Given the description of an element on the screen output the (x, y) to click on. 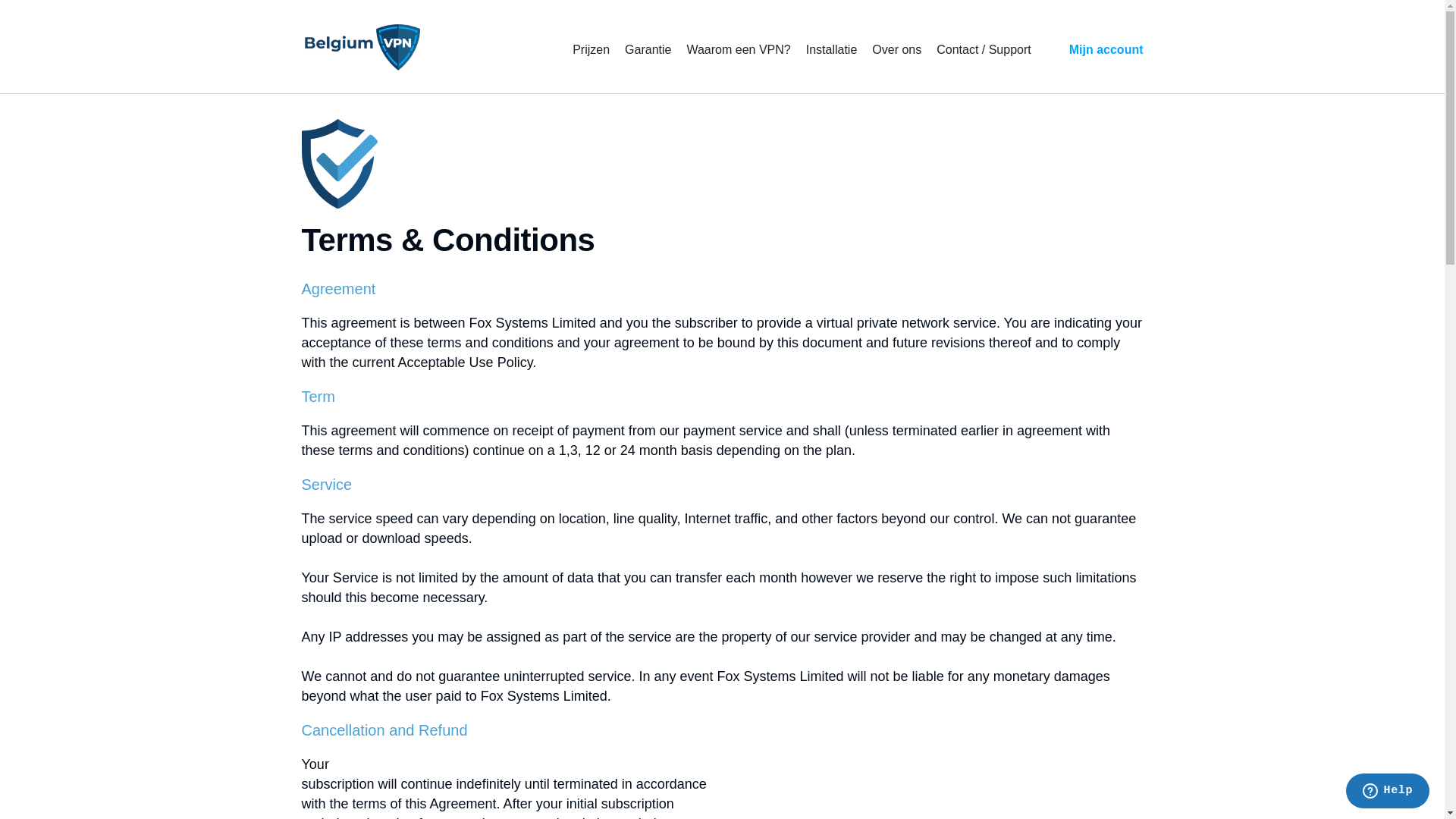
Garantie Element type: text (647, 49)
Prijzen Element type: text (590, 49)
Over ons Element type: text (896, 49)
Mijn account Element type: text (1106, 49)
Opens a widget where you can find more information Element type: hover (1387, 792)
Waarom een VPN? Element type: text (738, 49)
Contact / Support Element type: text (983, 49)
Installatie Element type: text (831, 49)
